Given the description of an element on the screen output the (x, y) to click on. 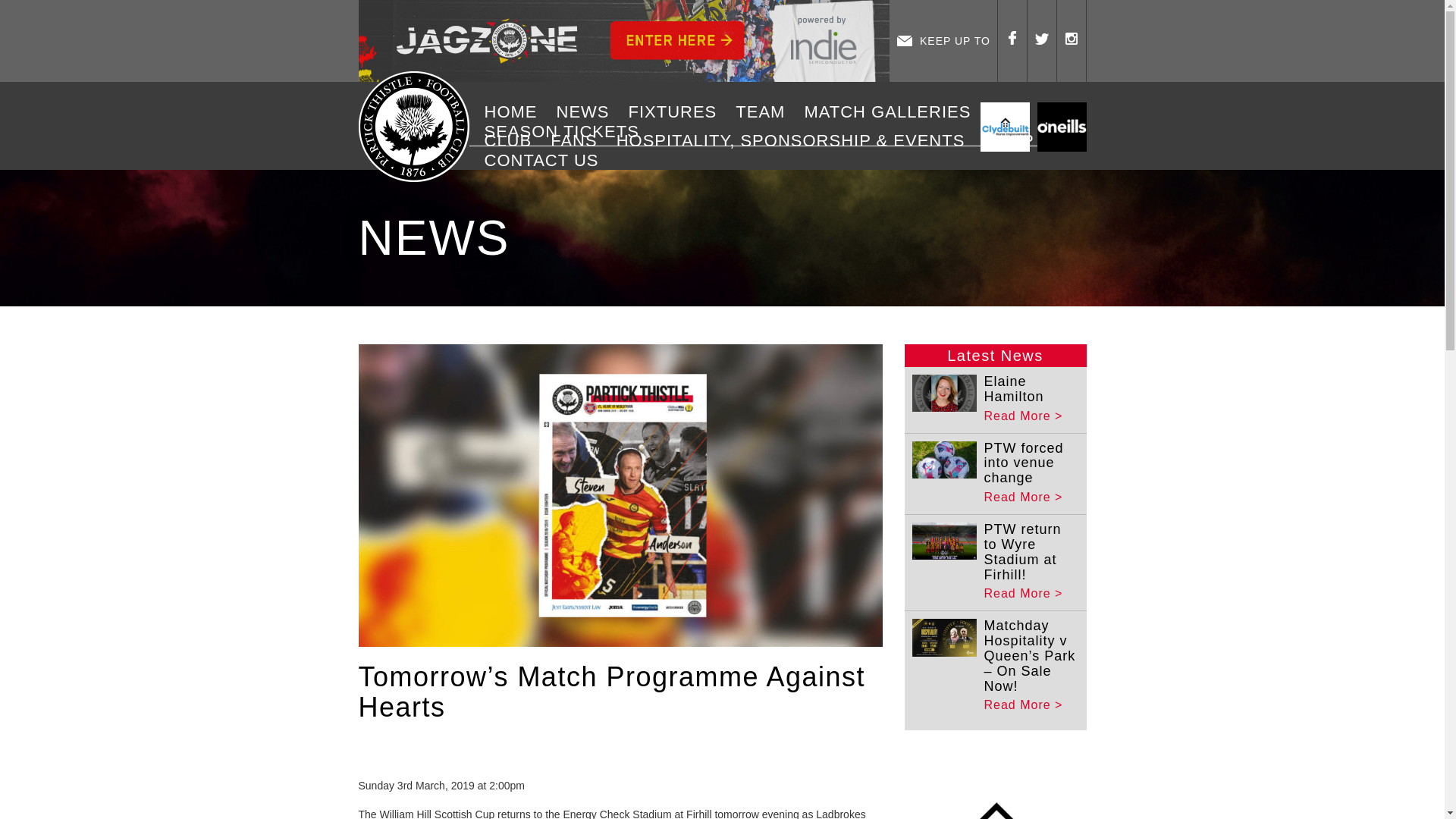
CLUB (513, 140)
PTW forced into venue change (1024, 463)
KEEP UP TO DATE (943, 40)
SHOP (1013, 140)
SEASON TICKETS (566, 131)
FIXTURES (678, 112)
Elaine Hamilton (1013, 388)
FANS (579, 140)
Enter the JAGZONE (623, 40)
